Given the description of an element on the screen output the (x, y) to click on. 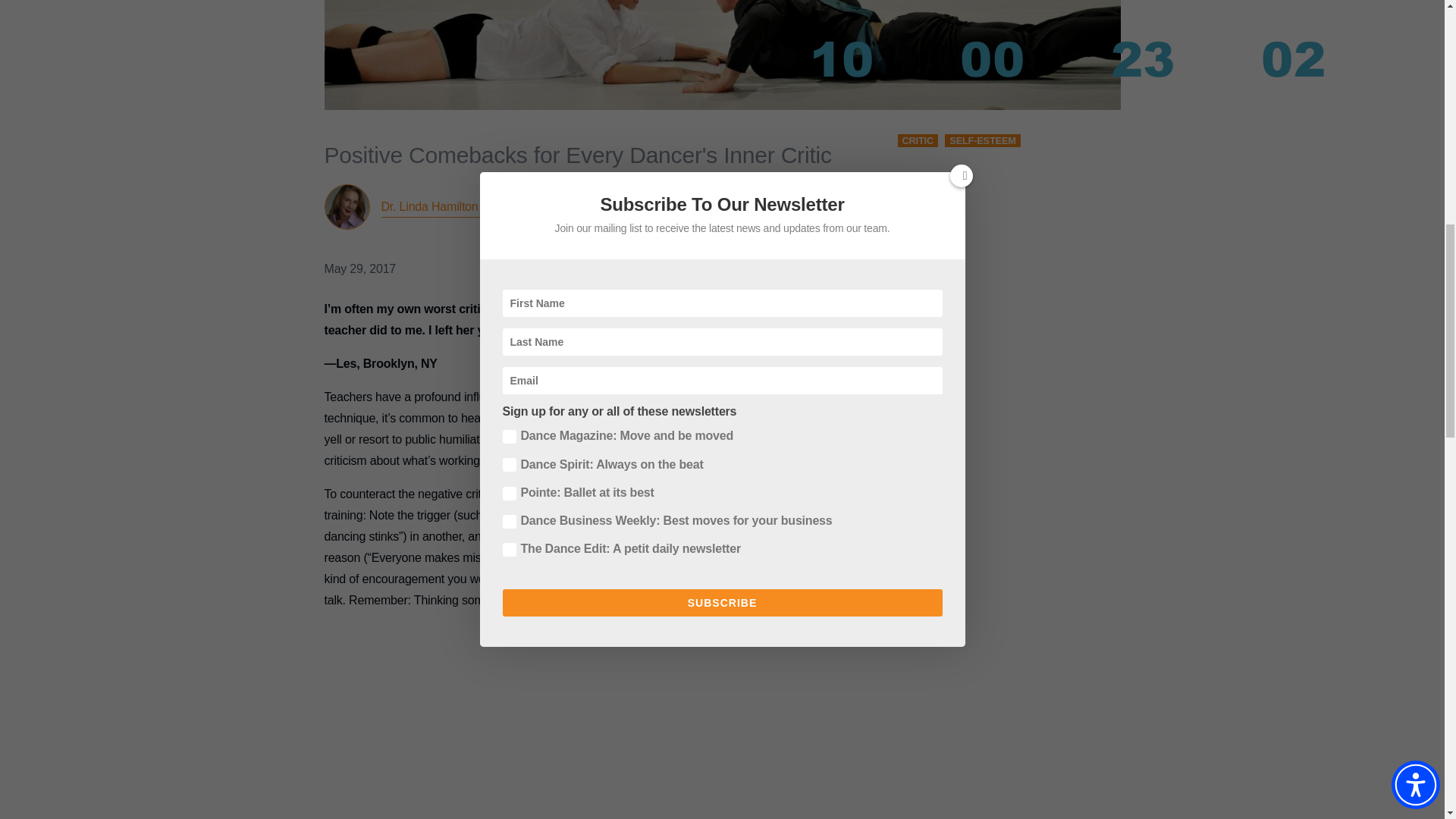
Share on Facebook (710, 236)
Share on Twitter (748, 236)
Share on LinkedIn (786, 236)
Share on Pinterest (824, 236)
Share by Email (861, 236)
3rd party ad content (602, 720)
